Given the description of an element on the screen output the (x, y) to click on. 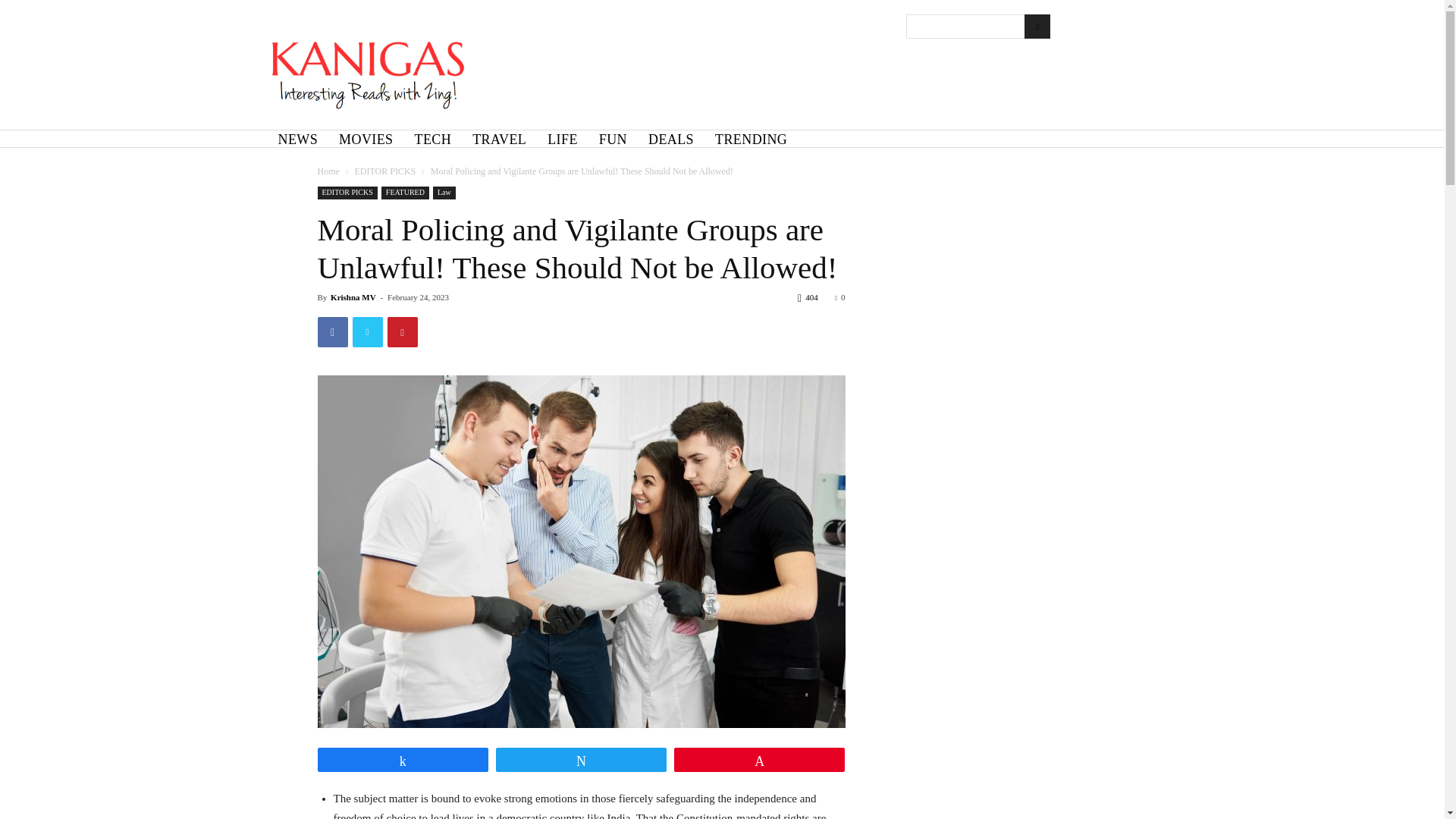
FUN (612, 139)
NEWS (297, 139)
TRAVEL (499, 139)
Home (328, 171)
MOVIES (366, 139)
TRENDING (750, 139)
Advertisement (779, 72)
DEALS (670, 139)
LIFE (562, 139)
TECH (433, 139)
View all posts in EDITOR PICKS (383, 171)
